Given the description of an element on the screen output the (x, y) to click on. 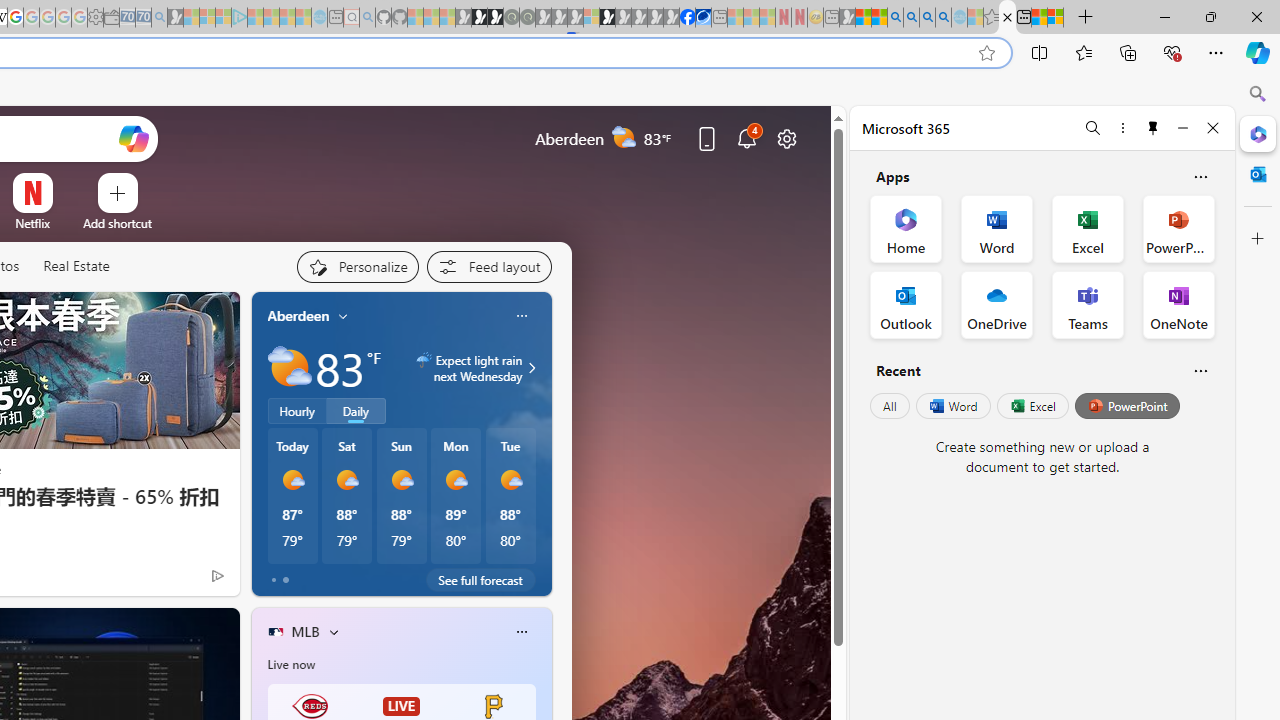
Feed settings (488, 266)
Excel (1031, 406)
My location (343, 315)
AirNow.gov (703, 17)
Google Chrome Internet Browser Download - Search Images (943, 17)
Nordace | Facebook (687, 17)
